Given the description of an element on the screen output the (x, y) to click on. 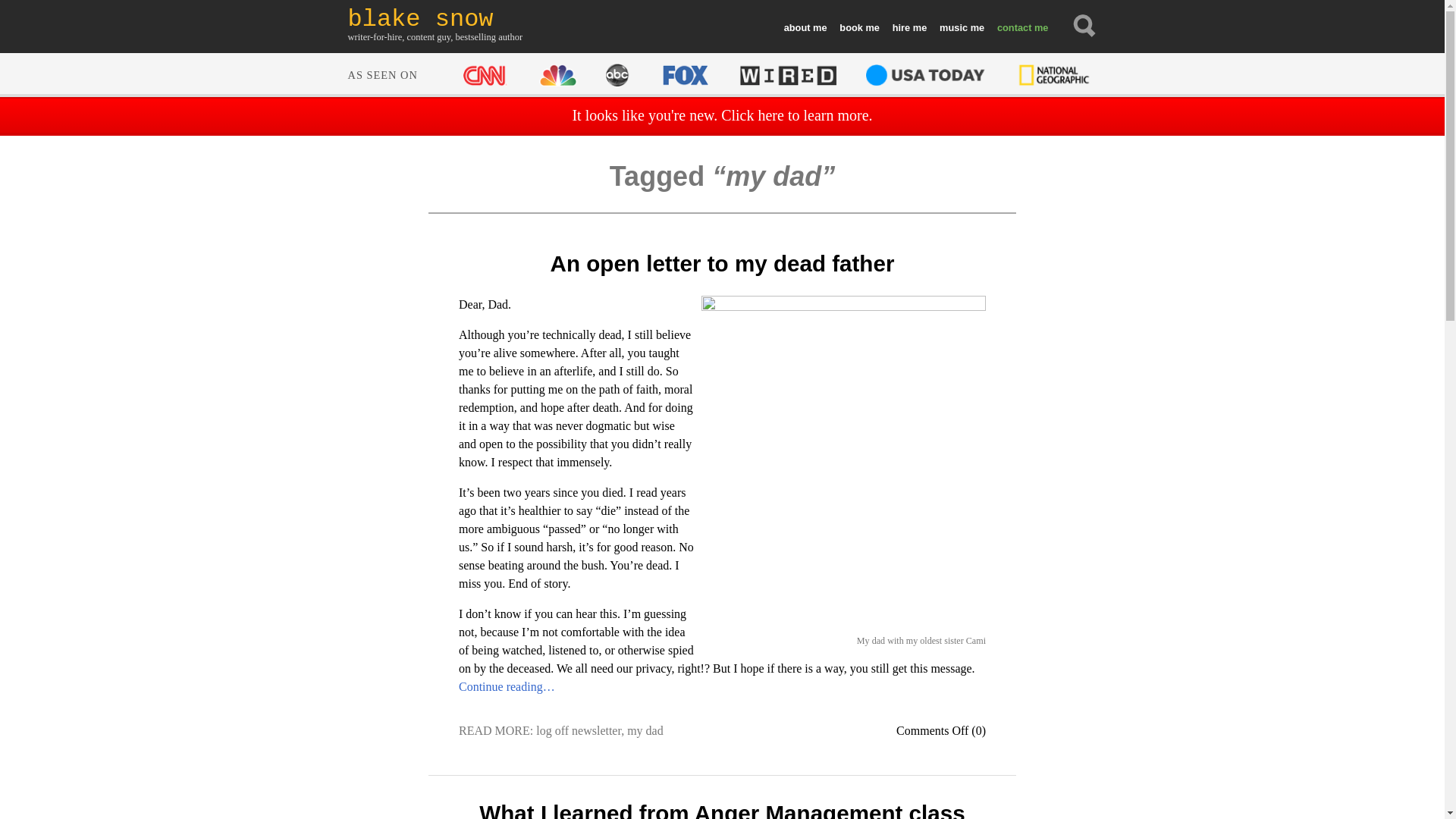
hire (908, 28)
music (962, 28)
What I learned from Anger Management class (721, 809)
Permanent Link to An open letter to my dead father (722, 263)
blake snow (434, 18)
An open letter to my dead father (722, 263)
AS SEEN ON (719, 73)
my dad (645, 730)
Permanent Link to What I learned from Anger Management class (721, 809)
about (804, 28)
